Given the description of an element on the screen output the (x, y) to click on. 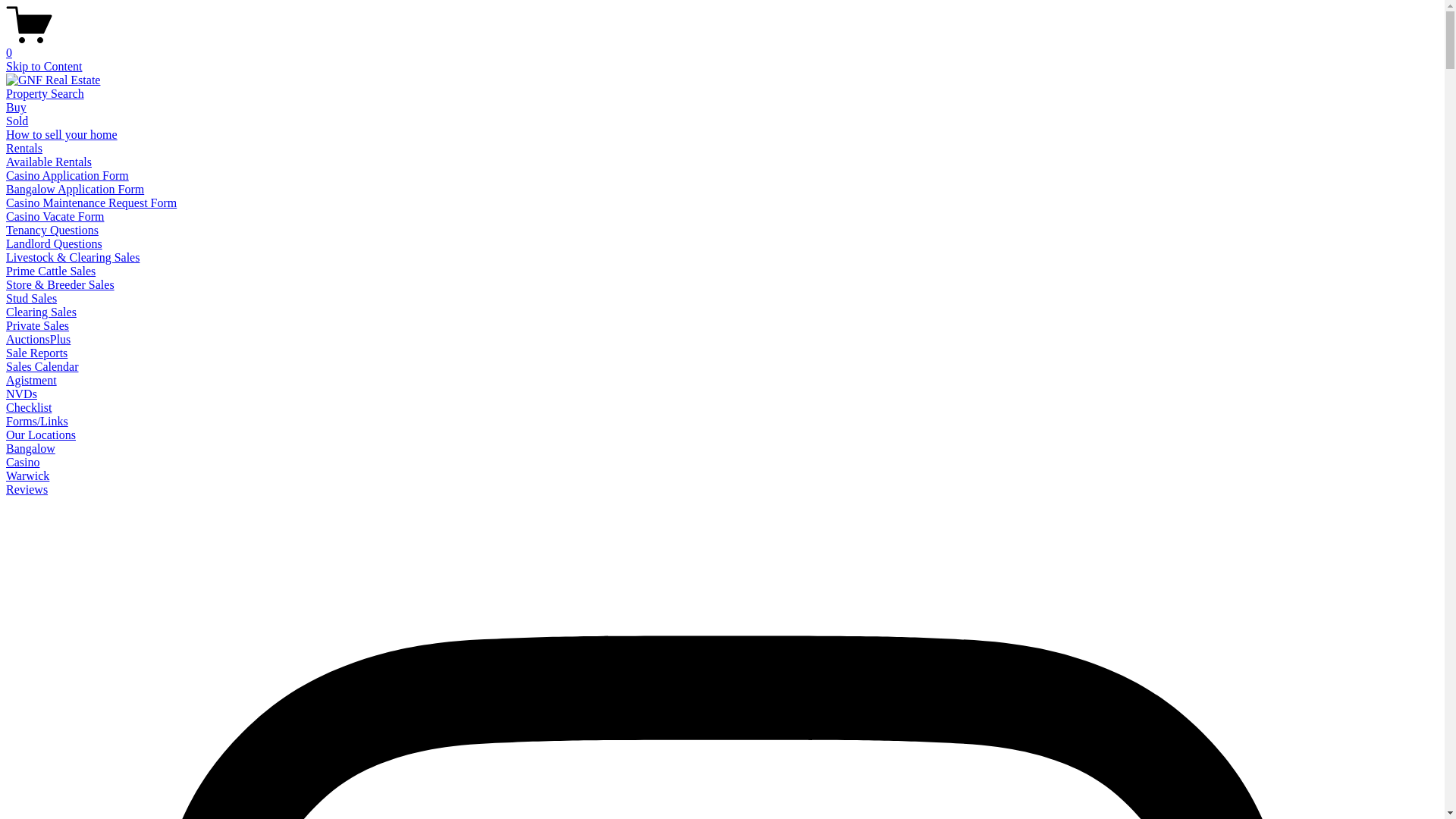
NVDs Element type: text (21, 393)
Sale Reports Element type: text (36, 352)
Our Locations Element type: text (40, 434)
Sold Element type: text (17, 120)
Rentals Element type: text (24, 147)
Checklist Element type: text (28, 407)
Store & Breeder Sales Element type: text (60, 284)
Sales Calendar Element type: text (42, 366)
Landlord Questions Element type: text (54, 243)
Forms/Links Element type: text (37, 420)
Skip to Content Element type: text (43, 65)
Agistment Element type: text (31, 379)
Stud Sales Element type: text (31, 297)
Property Search Element type: text (45, 93)
Clearing Sales Element type: text (41, 311)
Prime Cattle Sales Element type: text (50, 270)
Tenancy Questions Element type: text (52, 229)
Warwick Element type: text (27, 475)
Casino Application Form Element type: text (67, 175)
Reviews Element type: text (26, 489)
Casino Maintenance Request Form Element type: text (91, 202)
Casino Element type: text (22, 461)
How to sell your home Element type: text (61, 134)
Casino Vacate Form Element type: text (54, 216)
AuctionsPlus Element type: text (38, 338)
Livestock & Clearing Sales Element type: text (72, 257)
Bangalow Application Form Element type: text (75, 188)
Buy Element type: text (16, 106)
Bangalow Element type: text (30, 448)
Private Sales Element type: text (37, 325)
0 Element type: text (722, 45)
Available Rentals Element type: text (48, 161)
